Given the description of an element on the screen output the (x, y) to click on. 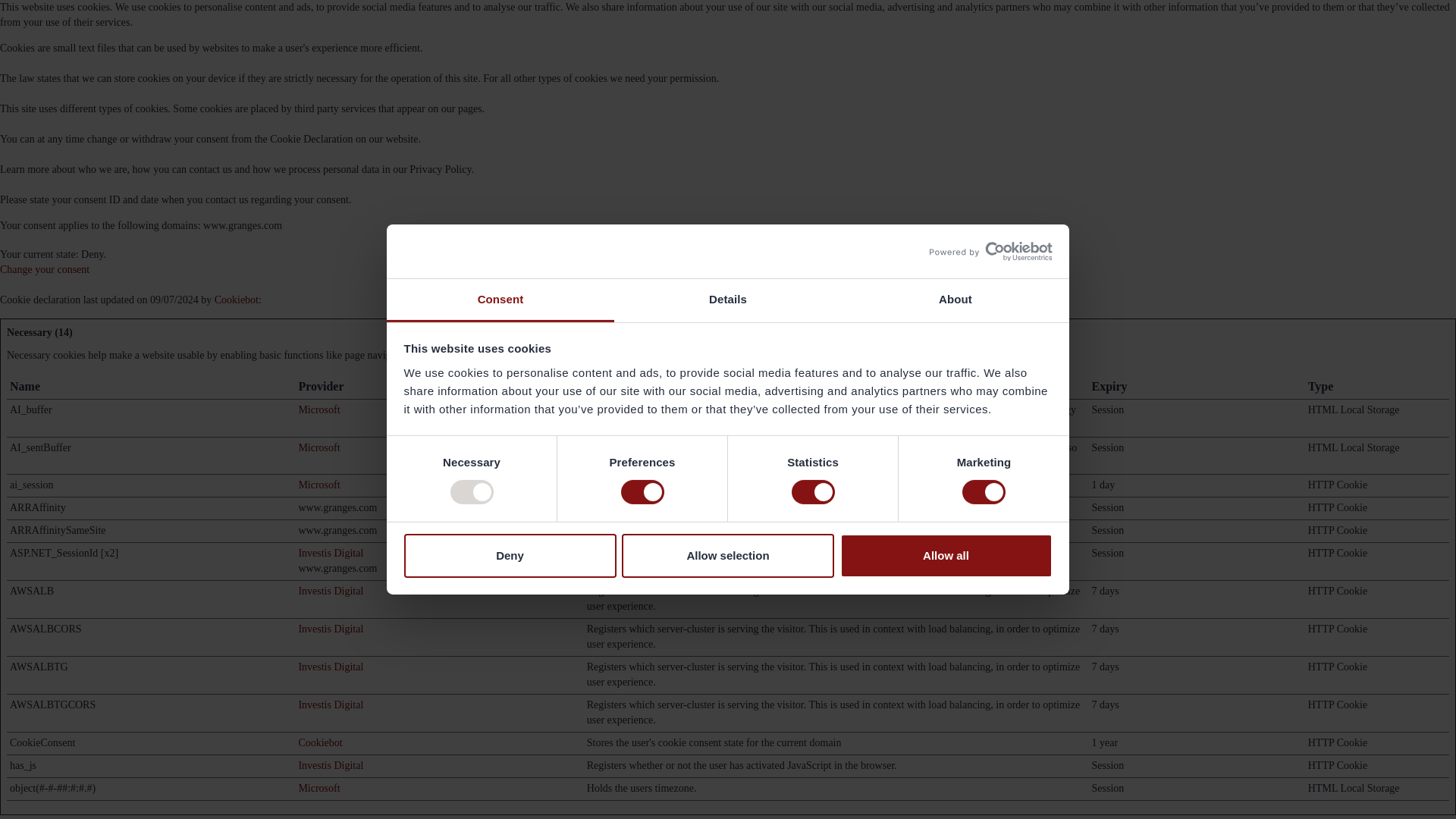
Investis Digital (330, 666)
Details (727, 300)
About (954, 300)
Investis Digital (330, 628)
Microsoft's privacy policy (318, 484)
Consent (500, 300)
Change your consent (44, 269)
Investis Digital's privacy policy (330, 552)
Cookiebot (320, 742)
Investis Digital (330, 552)
Microsoft (318, 484)
Investis Digital's privacy policy (330, 666)
Investis Digital's privacy policy (330, 628)
Microsoft (318, 409)
Microsoft (318, 446)
